Given the description of an element on the screen output the (x, y) to click on. 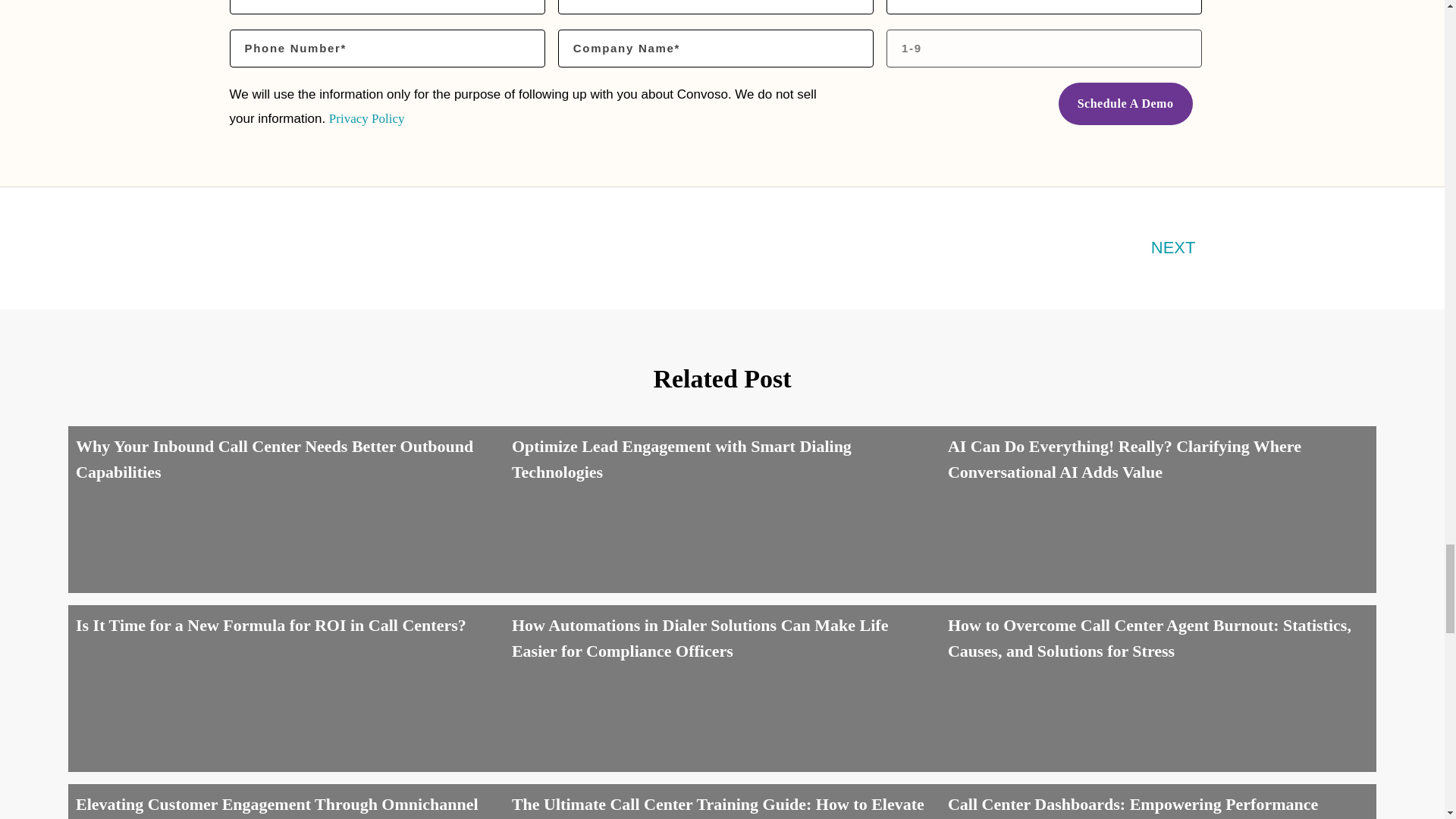
Schedule a Demo (1125, 103)
